Given the description of an element on the screen output the (x, y) to click on. 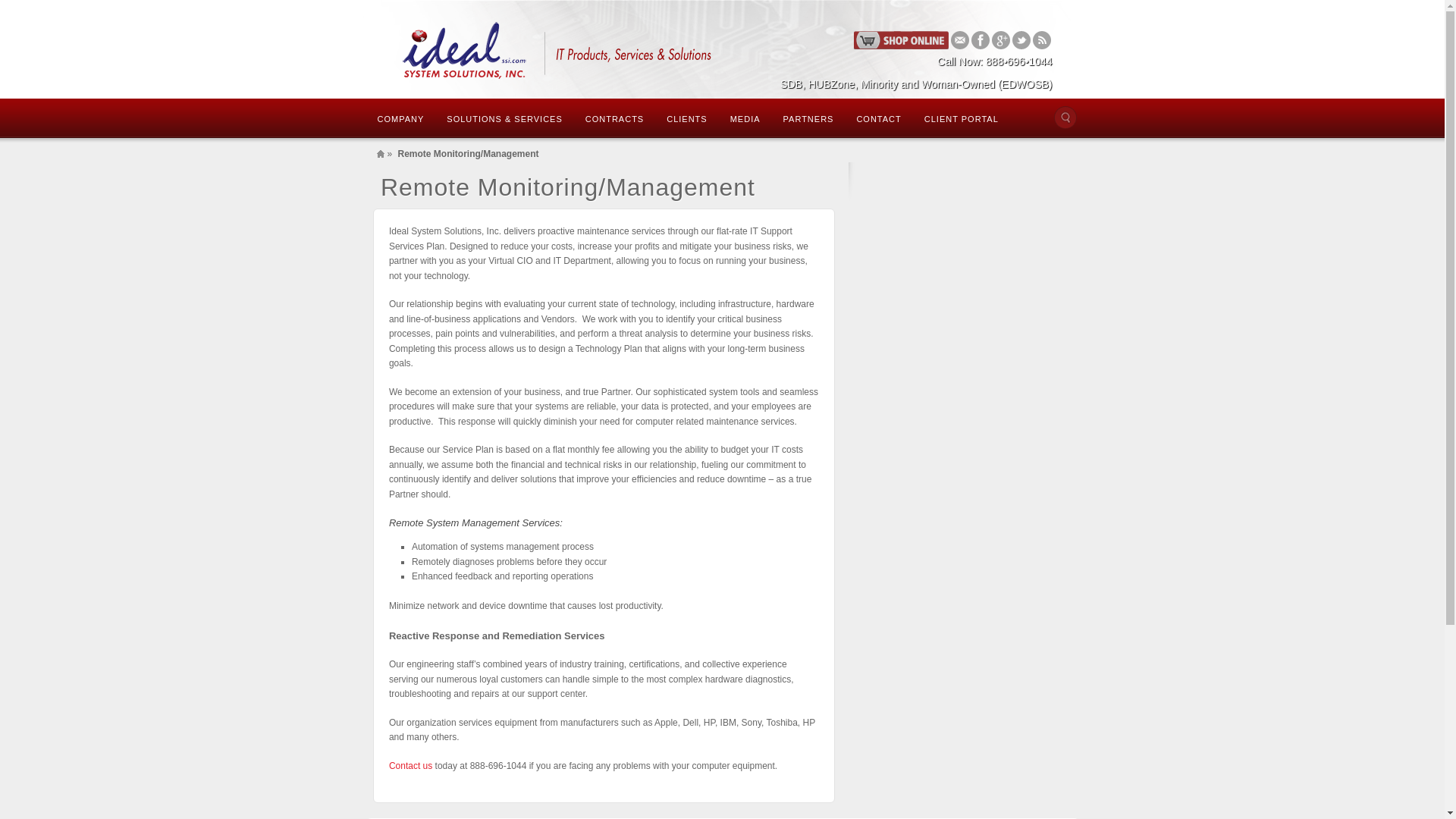
Contact Us (410, 765)
Twitter (1020, 40)
Google (1000, 40)
Facebook (979, 40)
Ideal System Solutions, Inc. (552, 49)
Rss (1041, 40)
Twitter (1020, 40)
CONTRACTS (614, 118)
Search the site... (1065, 117)
COMPANY (400, 118)
